Given the description of an element on the screen output the (x, y) to click on. 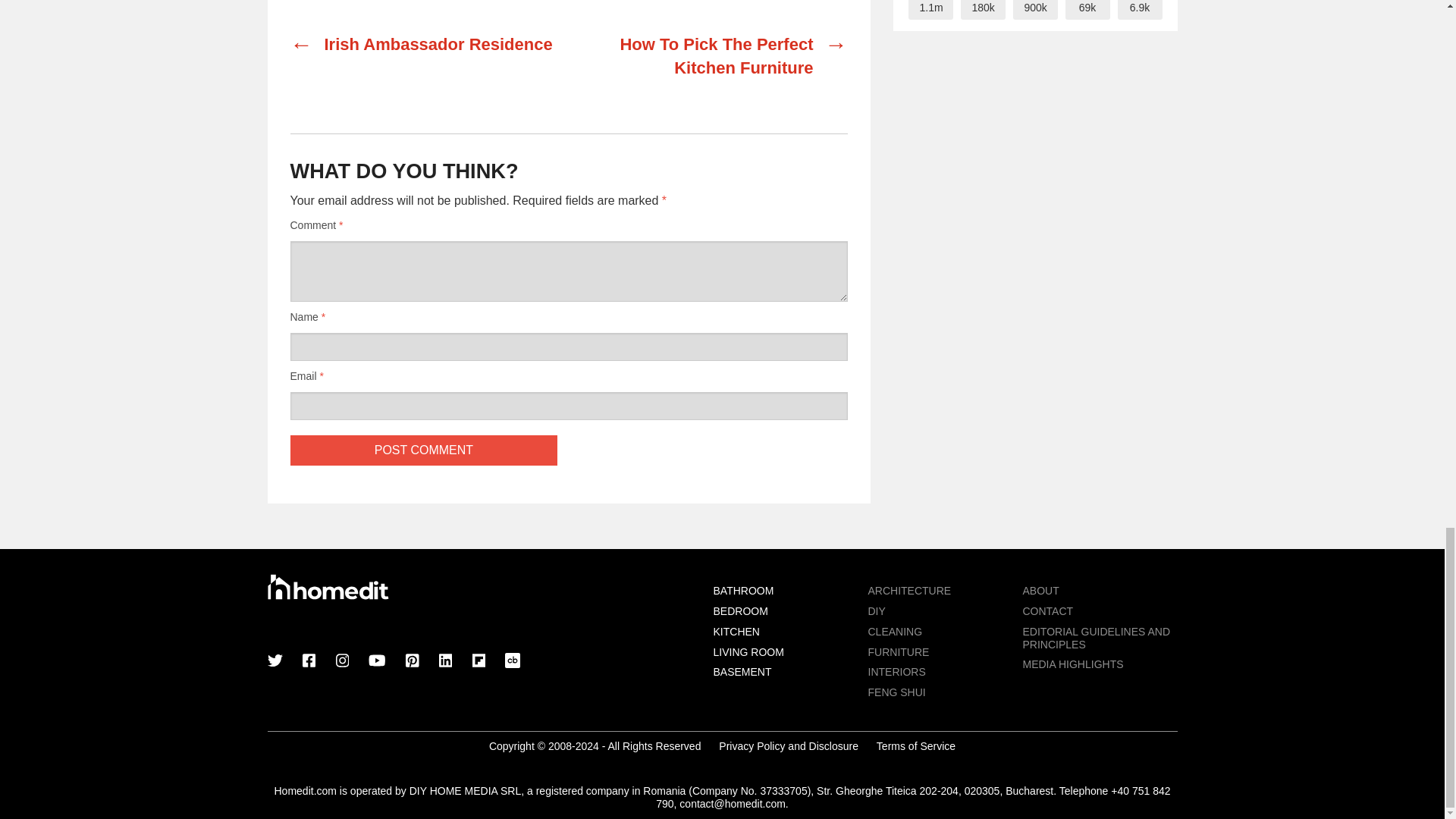
900k (1035, 9)
1.1m (930, 9)
69k (1086, 9)
180k (981, 9)
6.9k (1139, 9)
Post Comment (423, 450)
